Given the description of an element on the screen output the (x, y) to click on. 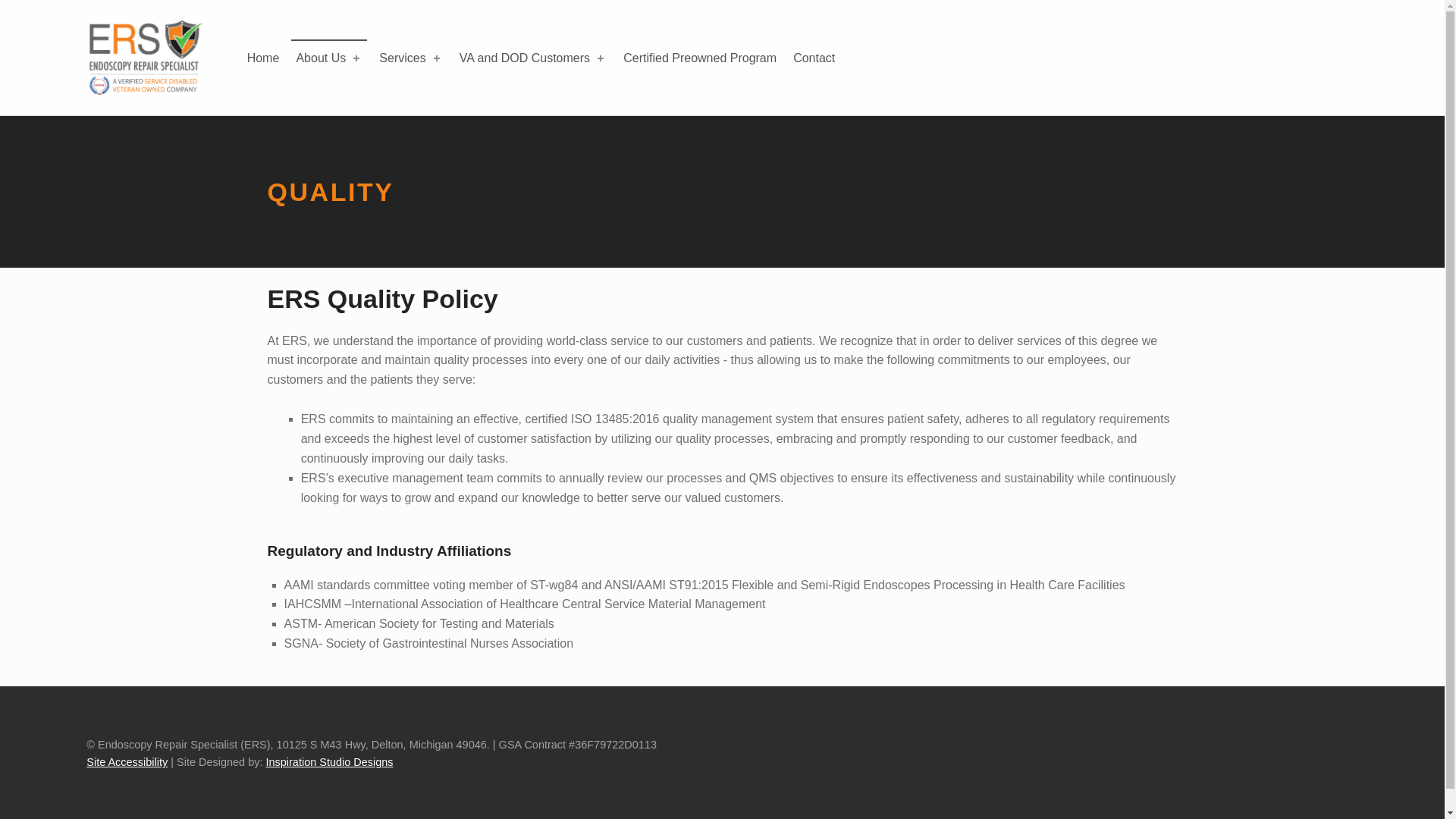
Site Accessibility (126, 761)
Contact (814, 57)
VA and DOD Customers (532, 57)
Home (263, 57)
Certified Preowned Program (699, 57)
Inspiration Studio Designs (328, 761)
About Us (328, 57)
Services (410, 57)
